Given the description of an element on the screen output the (x, y) to click on. 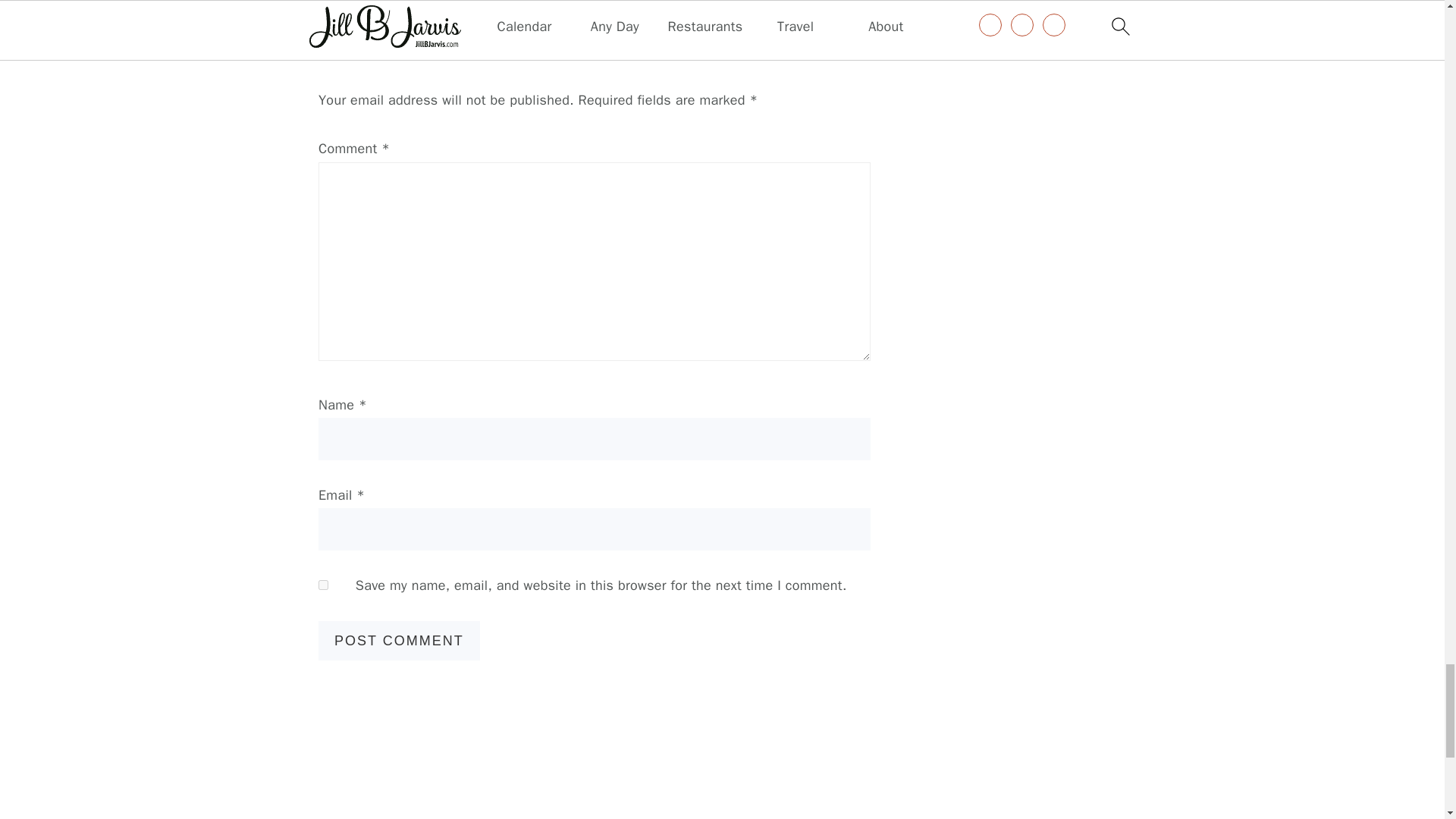
Post Comment (399, 640)
yes (323, 584)
